Given the description of an element on the screen output the (x, y) to click on. 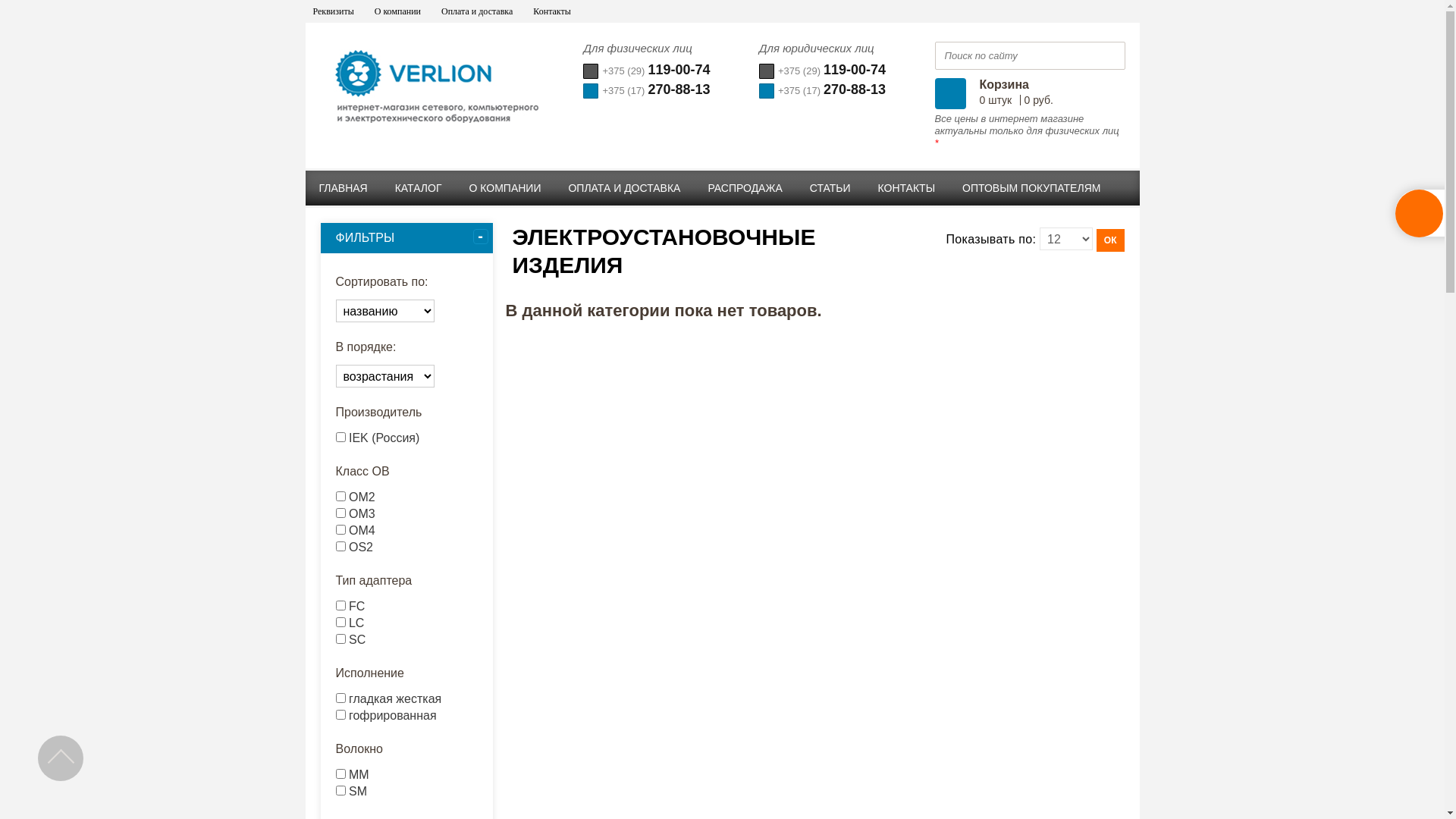
+375 (17)270-88-13 Element type: text (646, 89)
+375 (29)119-00-74 Element type: text (822, 70)
+375 (29)119-00-74 Element type: text (646, 70)
+375 (17)270-88-13 Element type: text (822, 89)
